Given the description of an element on the screen output the (x, y) to click on. 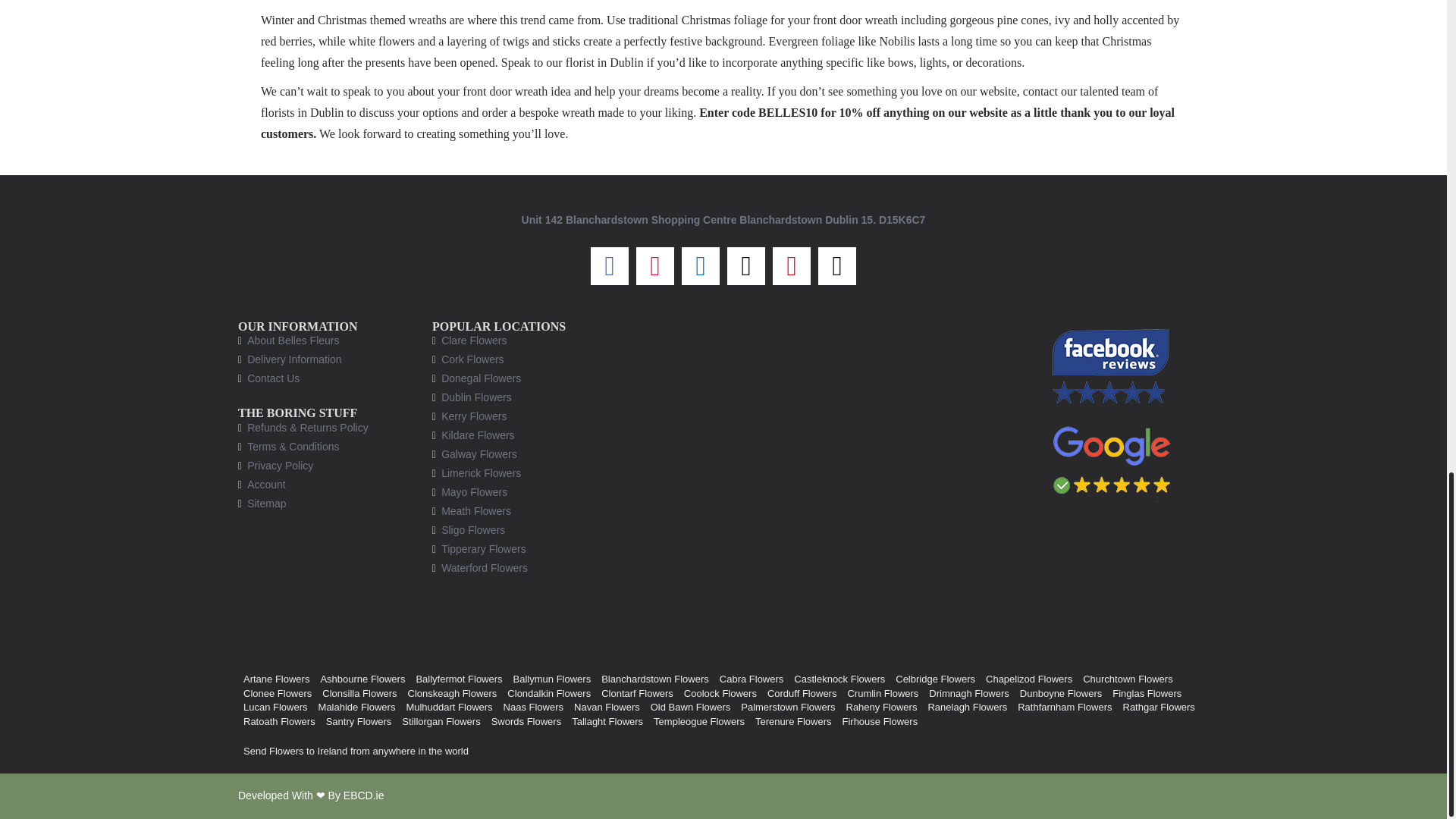
Find A Local Dublin Florist On A Map (820, 478)
Find Belles Fleurs On Google (1111, 459)
Find Belles Fleurs On Facebook (1111, 365)
